Given the description of an element on the screen output the (x, y) to click on. 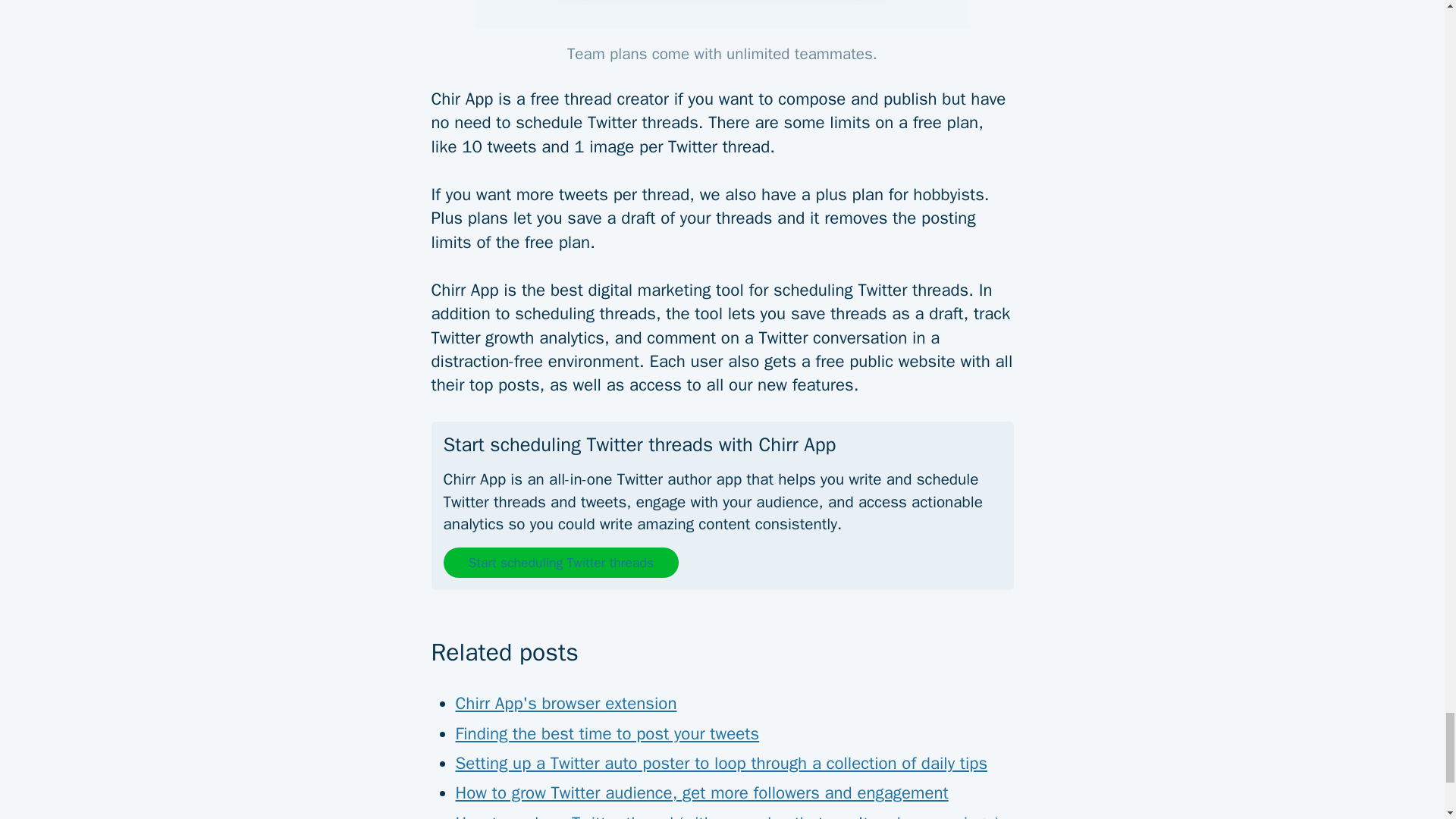
Finding the best time to post your tweets (606, 733)
Start scheduling Twitter threads (560, 562)
Related posts (721, 640)
Chirr App's browser extension (565, 704)
